Given the description of an element on the screen output the (x, y) to click on. 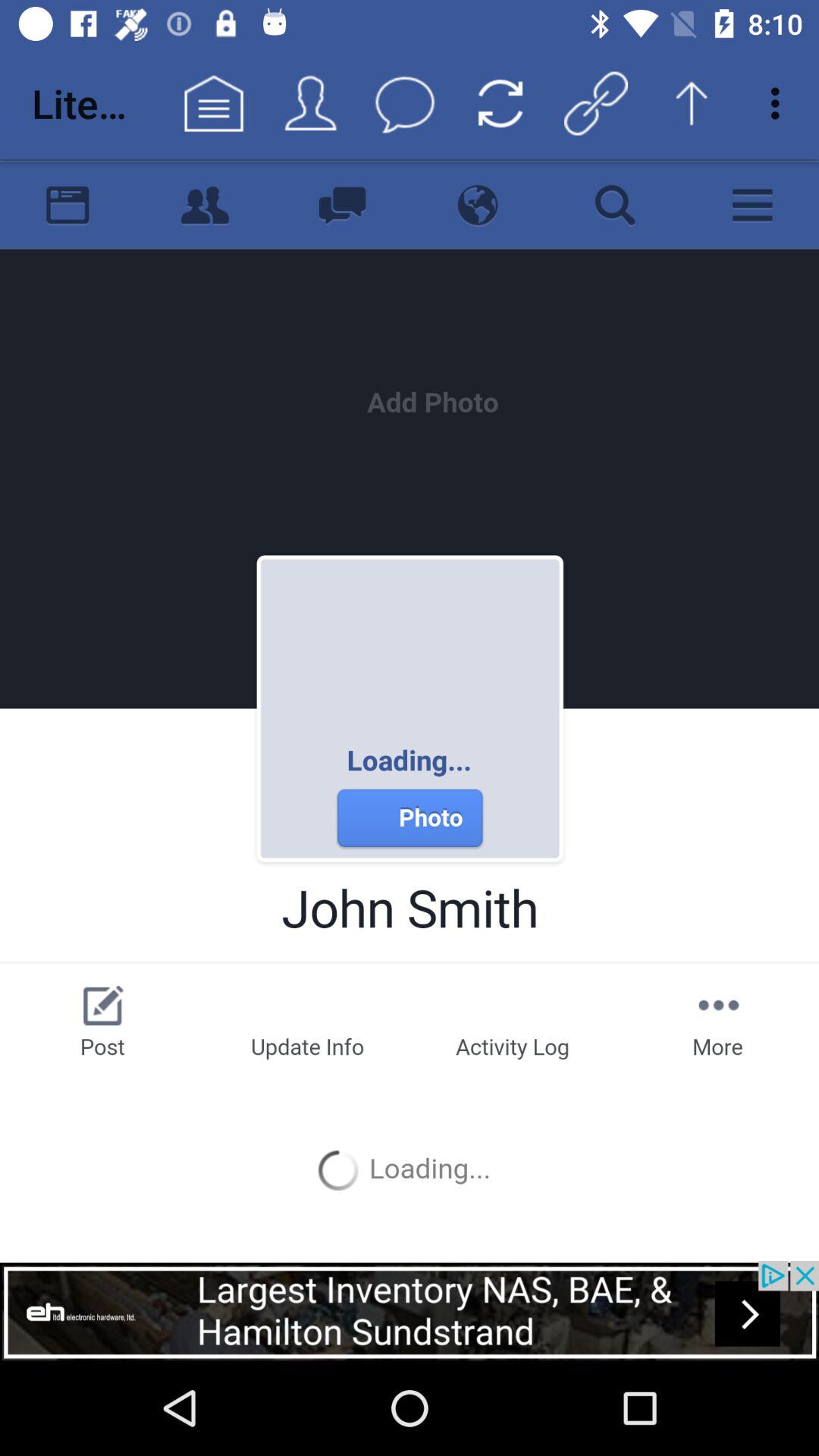
user home page (409, 709)
